Given the description of an element on the screen output the (x, y) to click on. 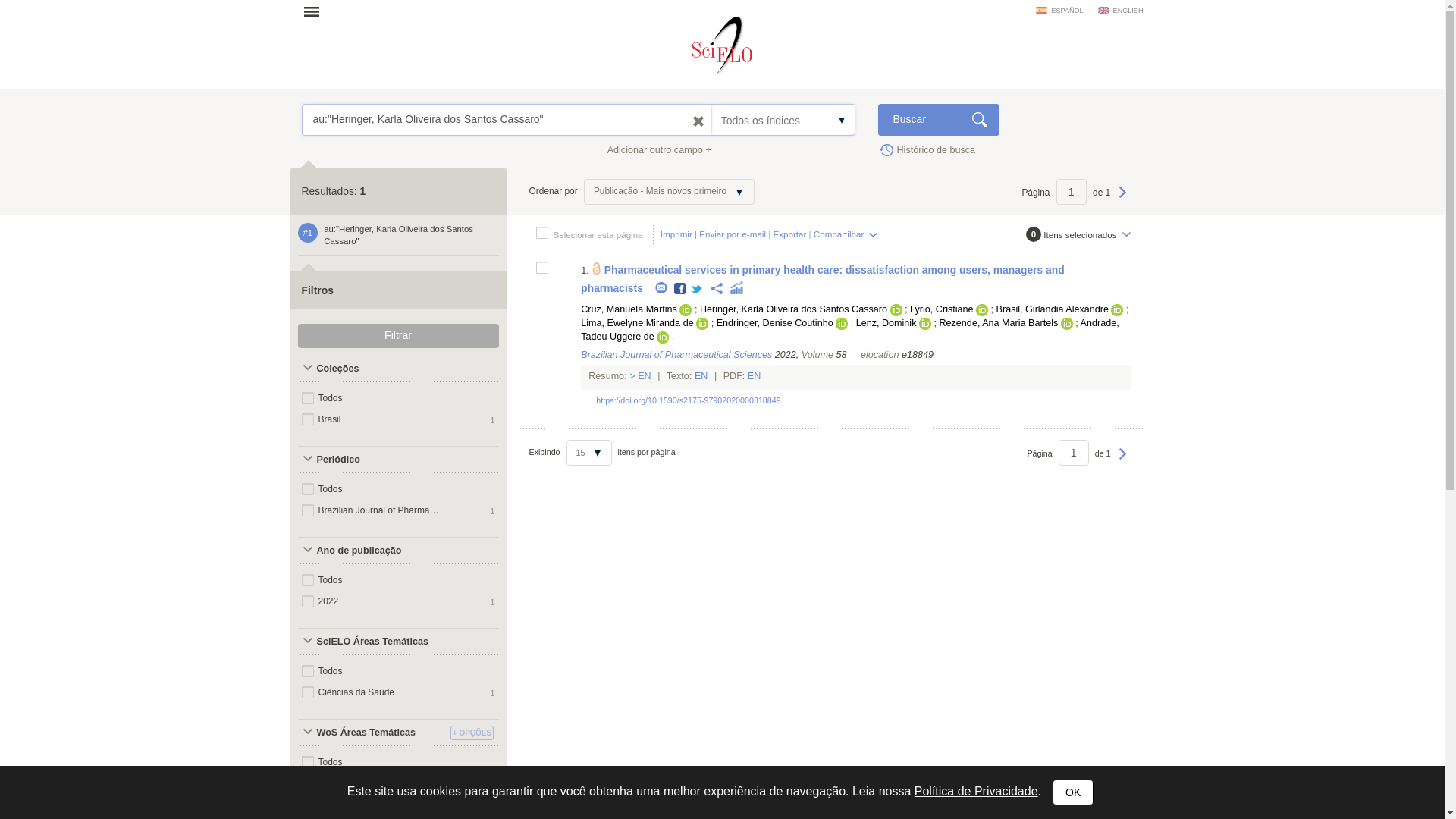
Buscar (937, 119)
Buscar (937, 119)
Enviar por e-mail (731, 234)
Imprimir (677, 234)
Exportar (789, 234)
 Twitter (696, 288)
Filtrar (397, 335)
Abrir menu (316, 11)
Buscar (937, 119)
Compartilhar Facebook (680, 288)
Precisa de ajuda? (348, 112)
1 (1073, 452)
Abrir menu (316, 11)
1 (1071, 191)
ENGLISH (1119, 10)
